Given the description of an element on the screen output the (x, y) to click on. 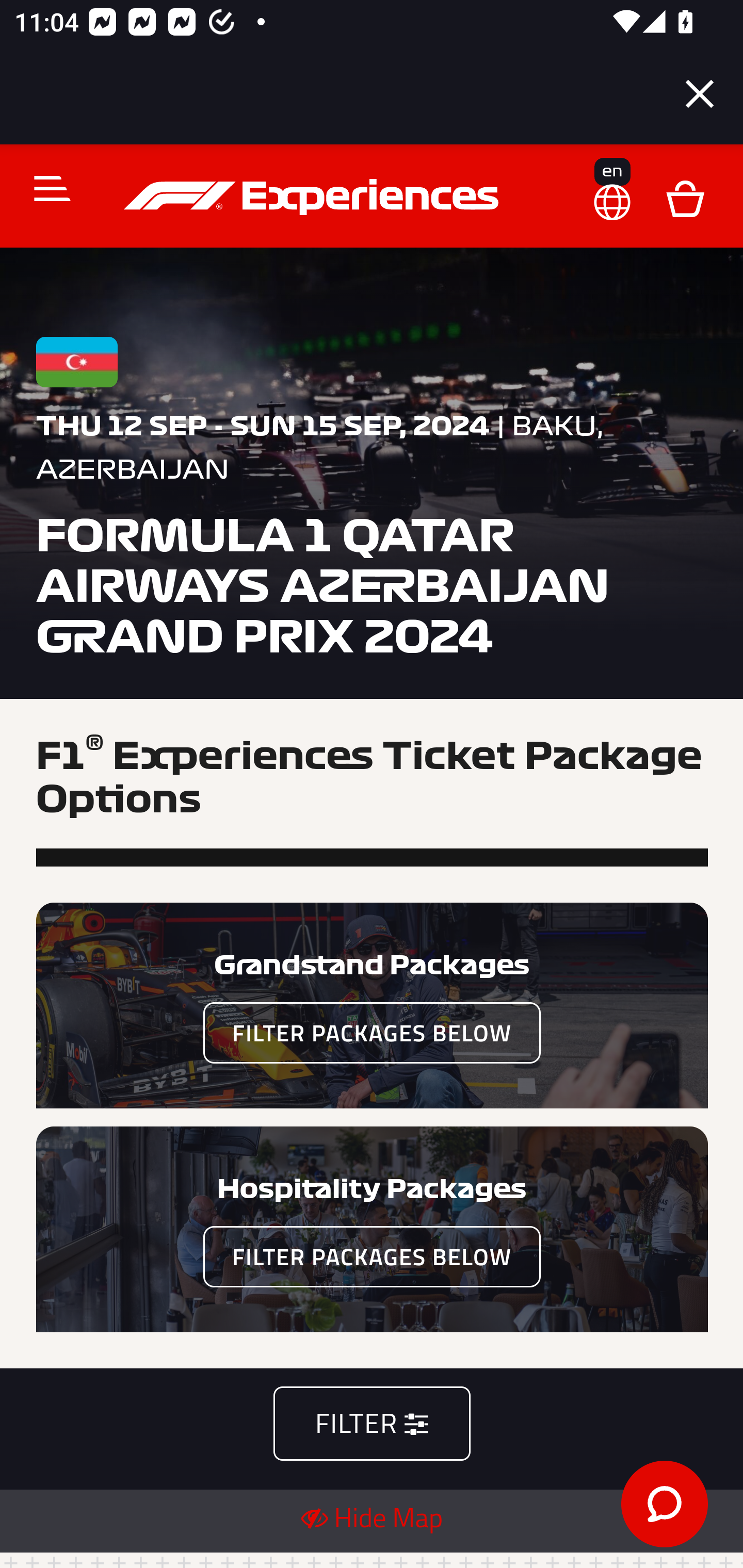
Close (699, 93)
Toggle navigation C (43, 188)
D (684, 197)
f1experiences (313, 197)
FILTER  (371, 1424)
 Hide Map   Hide Map (371, 1518)
